Given the description of an element on the screen output the (x, y) to click on. 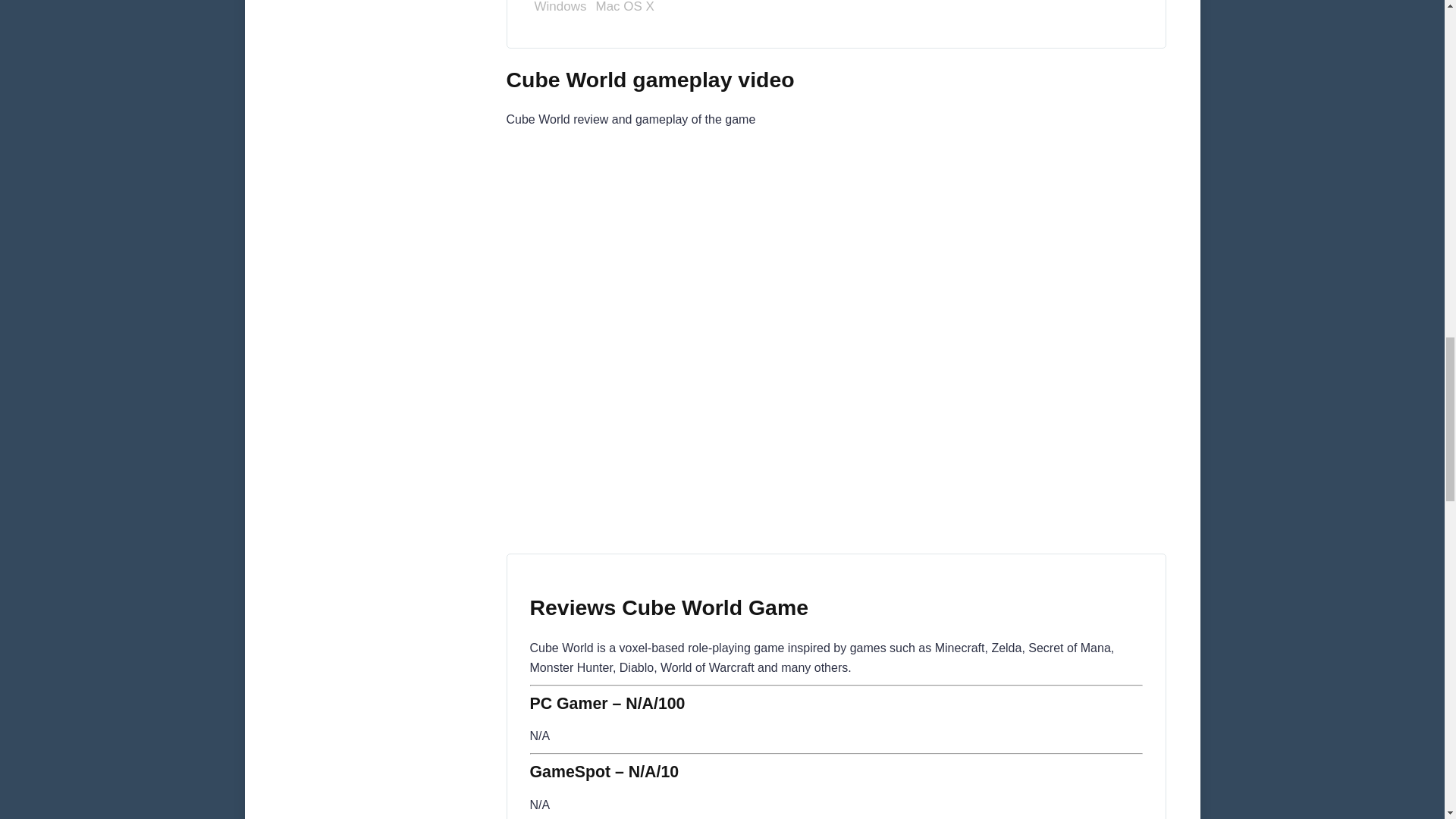
Windows (560, 12)
Mac OS X (624, 12)
